Given the description of an element on the screen output the (x, y) to click on. 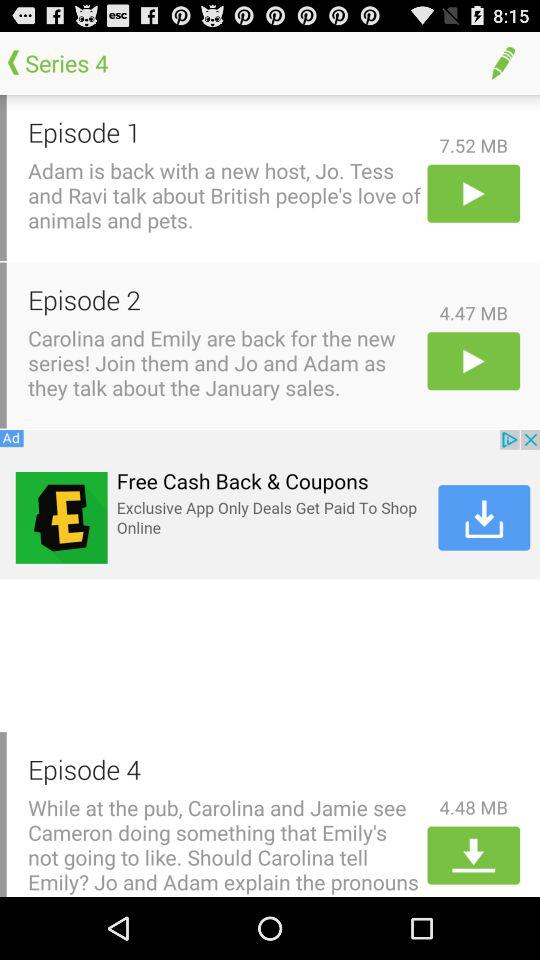
play episode one (473, 193)
